Given the description of an element on the screen output the (x, y) to click on. 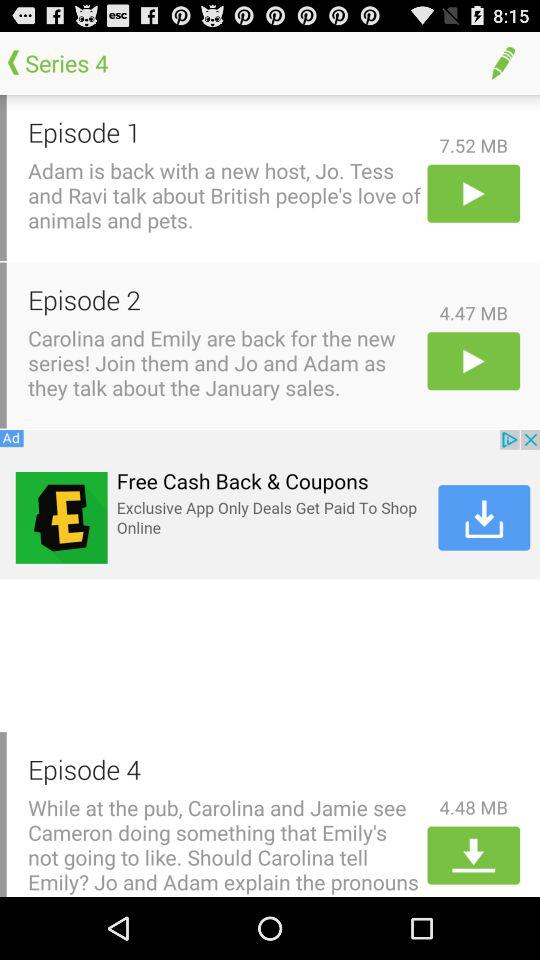
play episode one (473, 193)
